Given the description of an element on the screen output the (x, y) to click on. 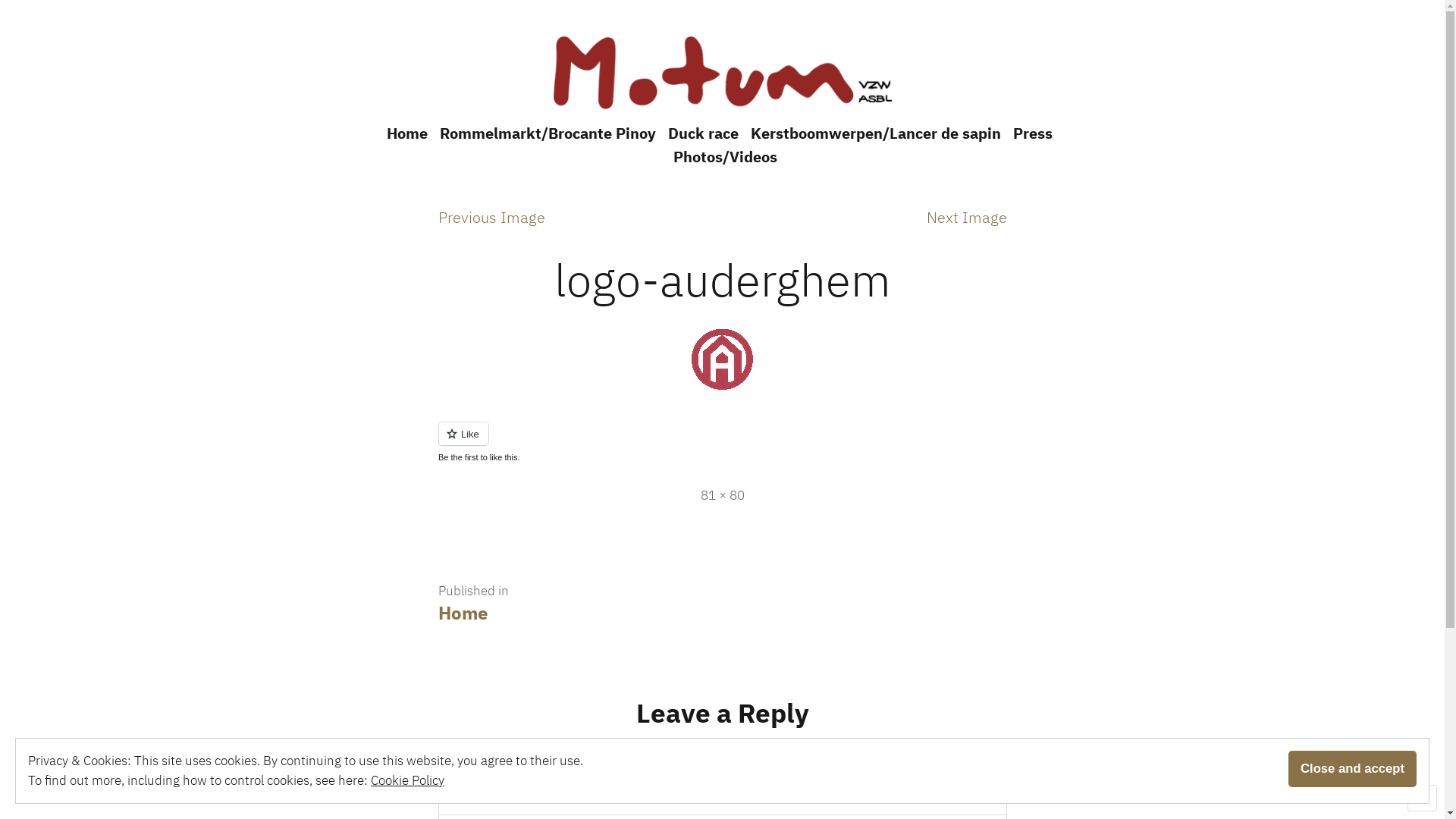
Rommelmarkt/Brocante Pinoy Element type: text (547, 132)
Kerstboomwerpen/Lancer de sapin Element type: text (875, 132)
Close and accept Element type: text (1352, 768)
Like or Reblog Element type: hover (722, 442)
Cookie Policy Element type: text (407, 779)
Next Image Element type: text (966, 217)
Press Element type: text (1032, 132)
Home Element type: text (409, 132)
Photos/Videos Element type: text (722, 157)
Duck race Element type: text (702, 132)
Published in
Home Element type: text (473, 601)
Previous Image Element type: text (491, 217)
